Given the description of an element on the screen output the (x, y) to click on. 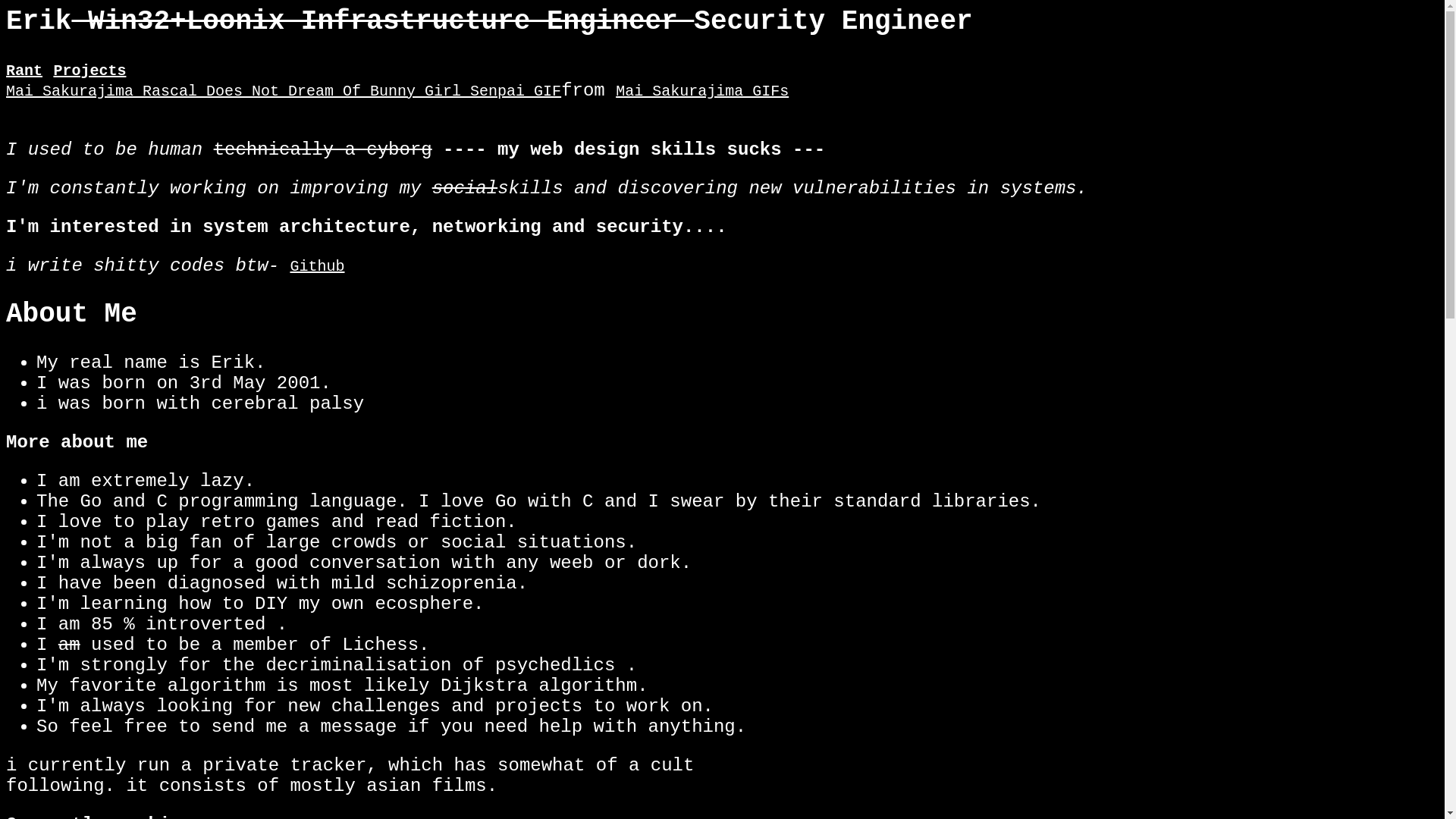
Rant (23, 70)
Github (316, 266)
Mai Sakurajima GIFs (702, 90)
Projects (88, 70)
